Given the description of an element on the screen output the (x, y) to click on. 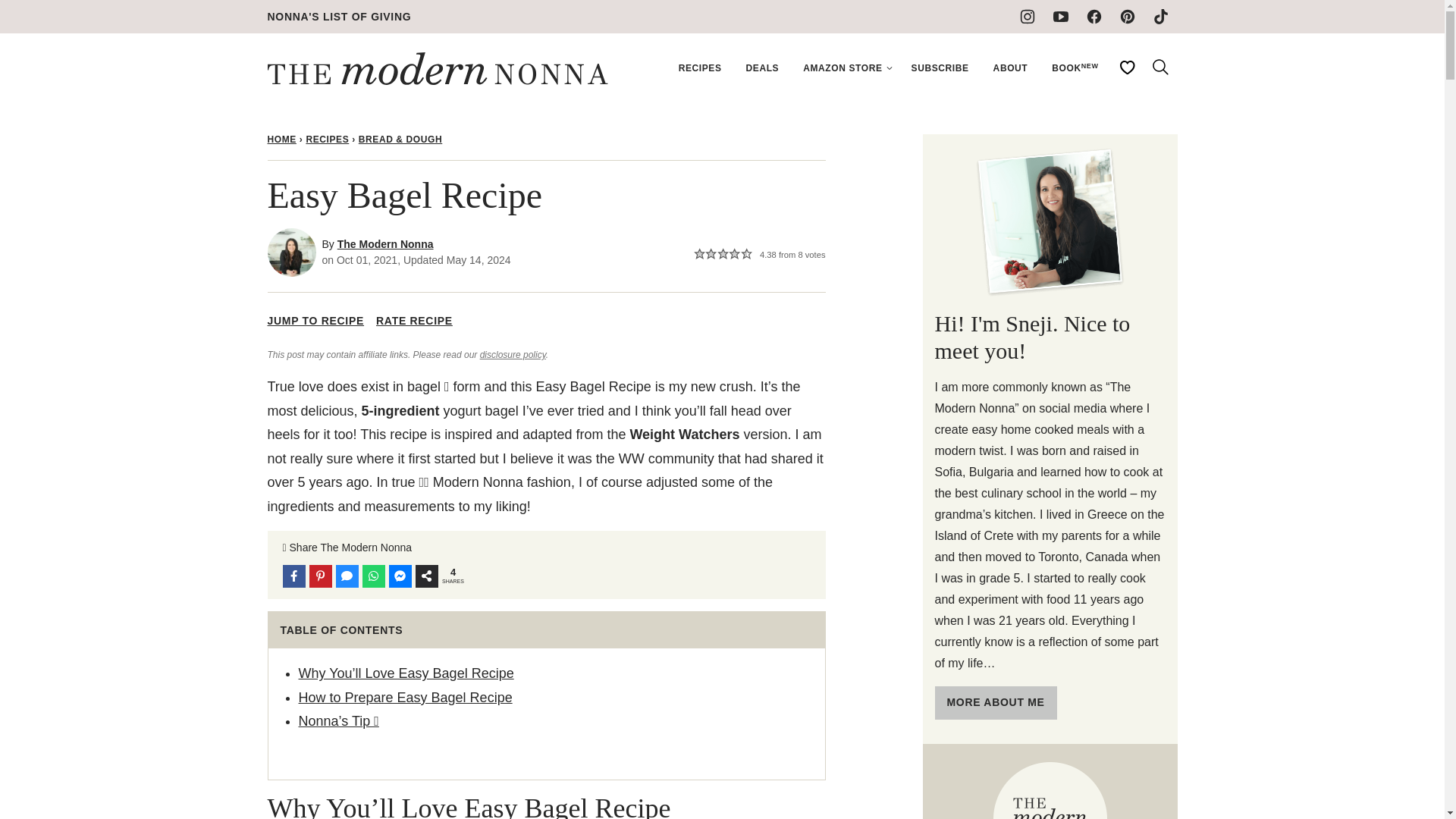
HOME (280, 139)
BOOKNEW (1074, 67)
RATE RECIPE (413, 321)
How to Prepare Easy Bagel Recipe (405, 697)
ABOUT (1011, 67)
RECIPES (699, 67)
NONNA'S LIST OF GIVING (338, 16)
RECIPES (327, 139)
The Modern Nonna (385, 244)
My Favorites (1125, 67)
JUMP TO RECIPE (315, 321)
SUBSCRIBE (940, 67)
AMAZON STORE (844, 67)
disclosure policy (513, 354)
DEALS (762, 67)
